Given the description of an element on the screen output the (x, y) to click on. 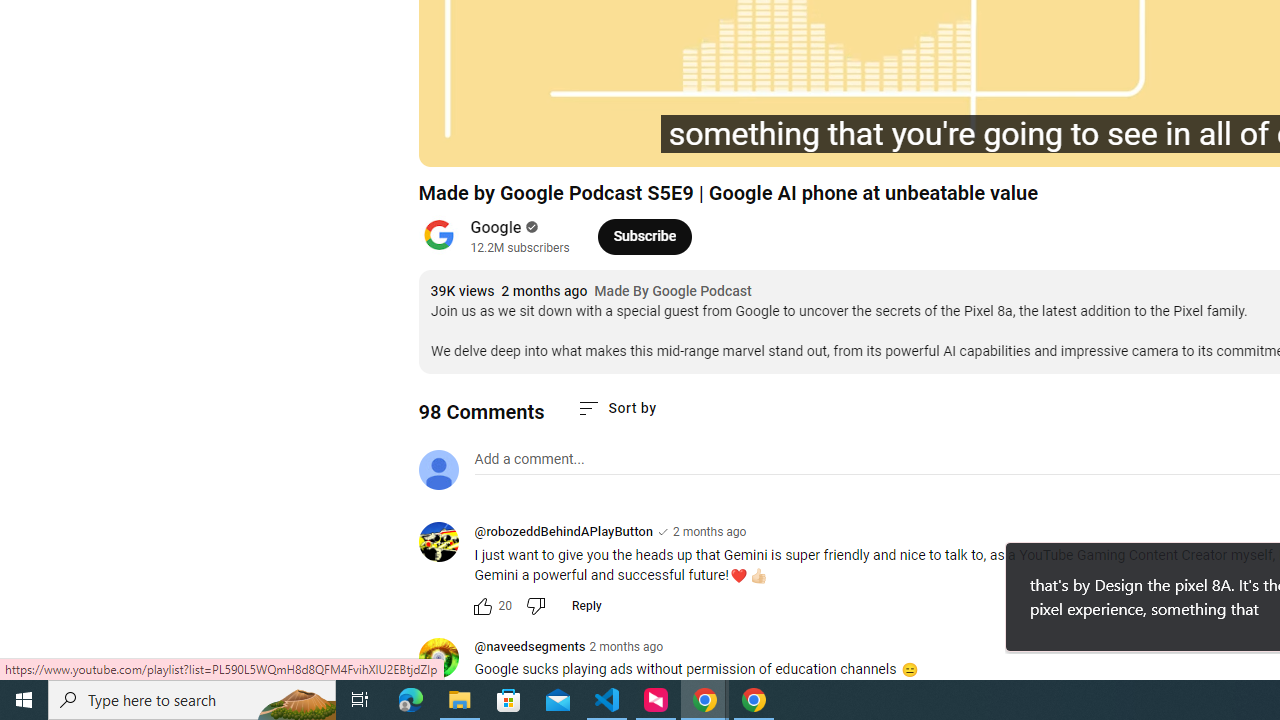
@robozeddBehindAPlayButton (562, 531)
2 months ago (626, 646)
AutomationID: simplebox-placeholder (528, 459)
Sort comments (616, 408)
Next (SHIFT+n) (546, 142)
